Given the description of an element on the screen output the (x, y) to click on. 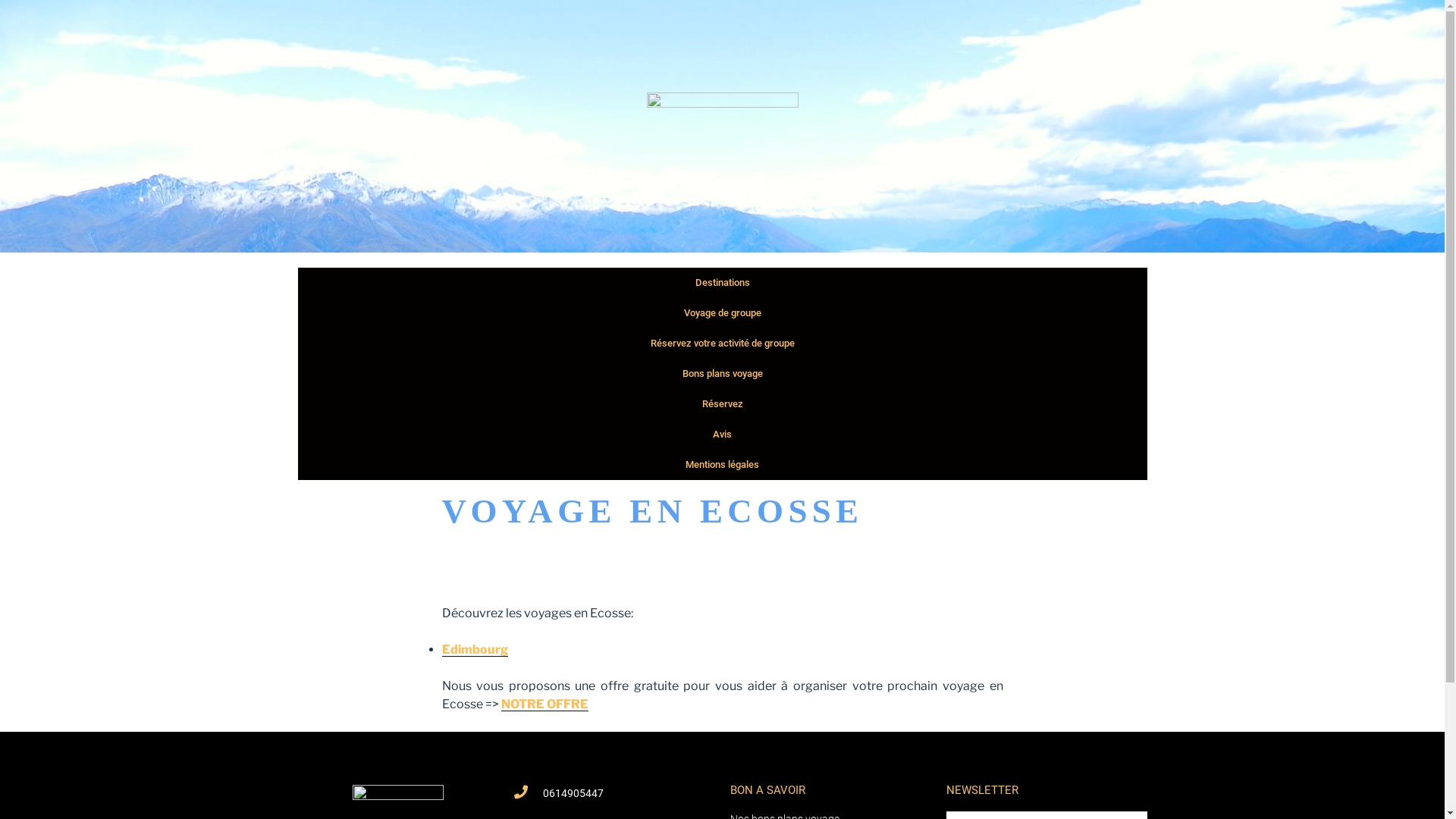
Voyage de groupe Element type: text (721, 313)
Edimbourg Element type: text (474, 649)
Destinations Element type: text (721, 282)
Avis Element type: text (721, 434)
Bons plans voyage Element type: text (721, 373)
NOTRE OFFRE Element type: text (543, 703)
